Given the description of an element on the screen output the (x, y) to click on. 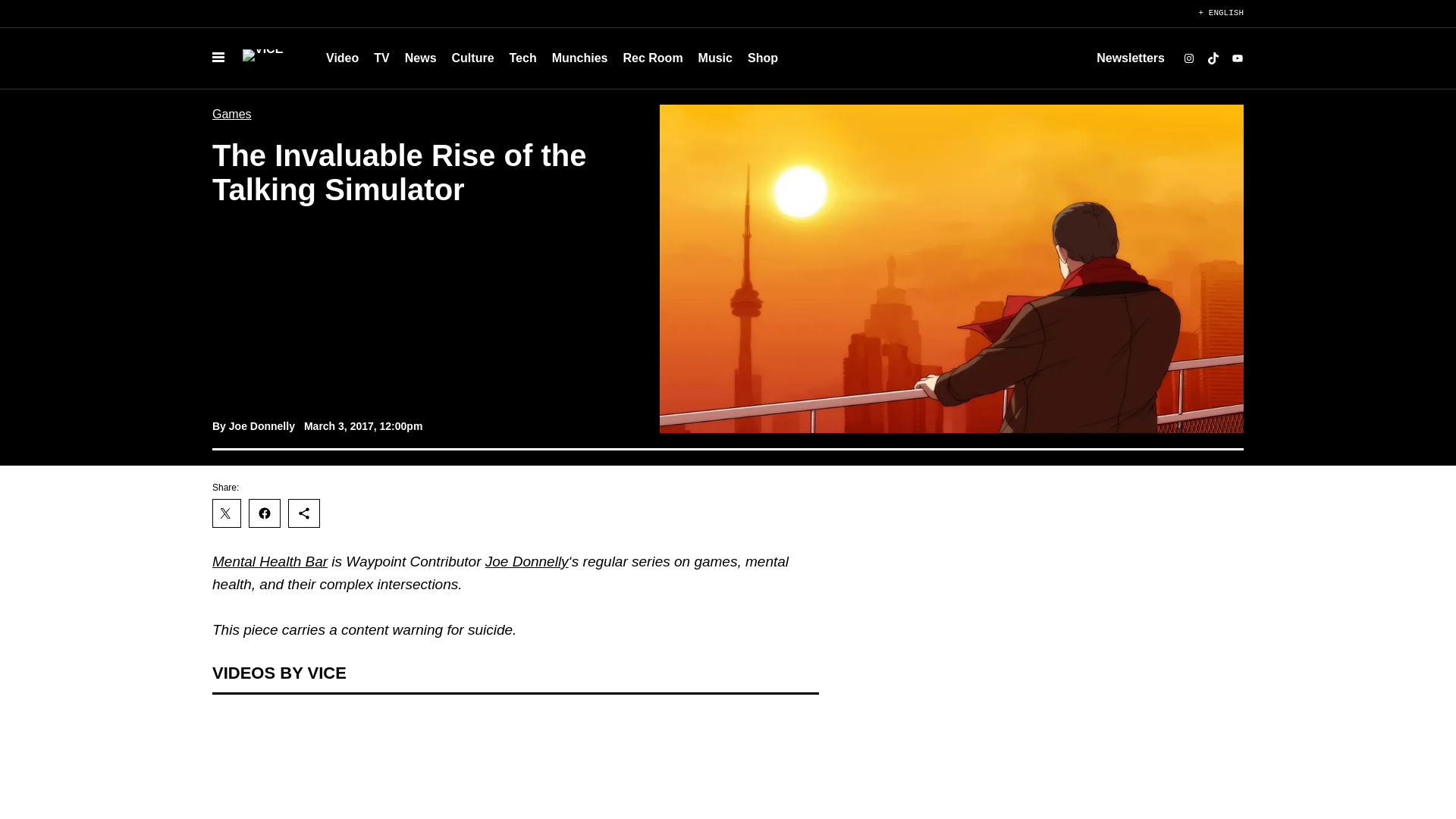
Shop (762, 58)
Music (714, 58)
YouTube (1237, 58)
Tech (523, 58)
Instagram (1188, 58)
Posts by Joe Donnelly (261, 426)
Video (342, 58)
Rec Room (652, 58)
TV (381, 58)
Open Menu (217, 58)
